Given the description of an element on the screen output the (x, y) to click on. 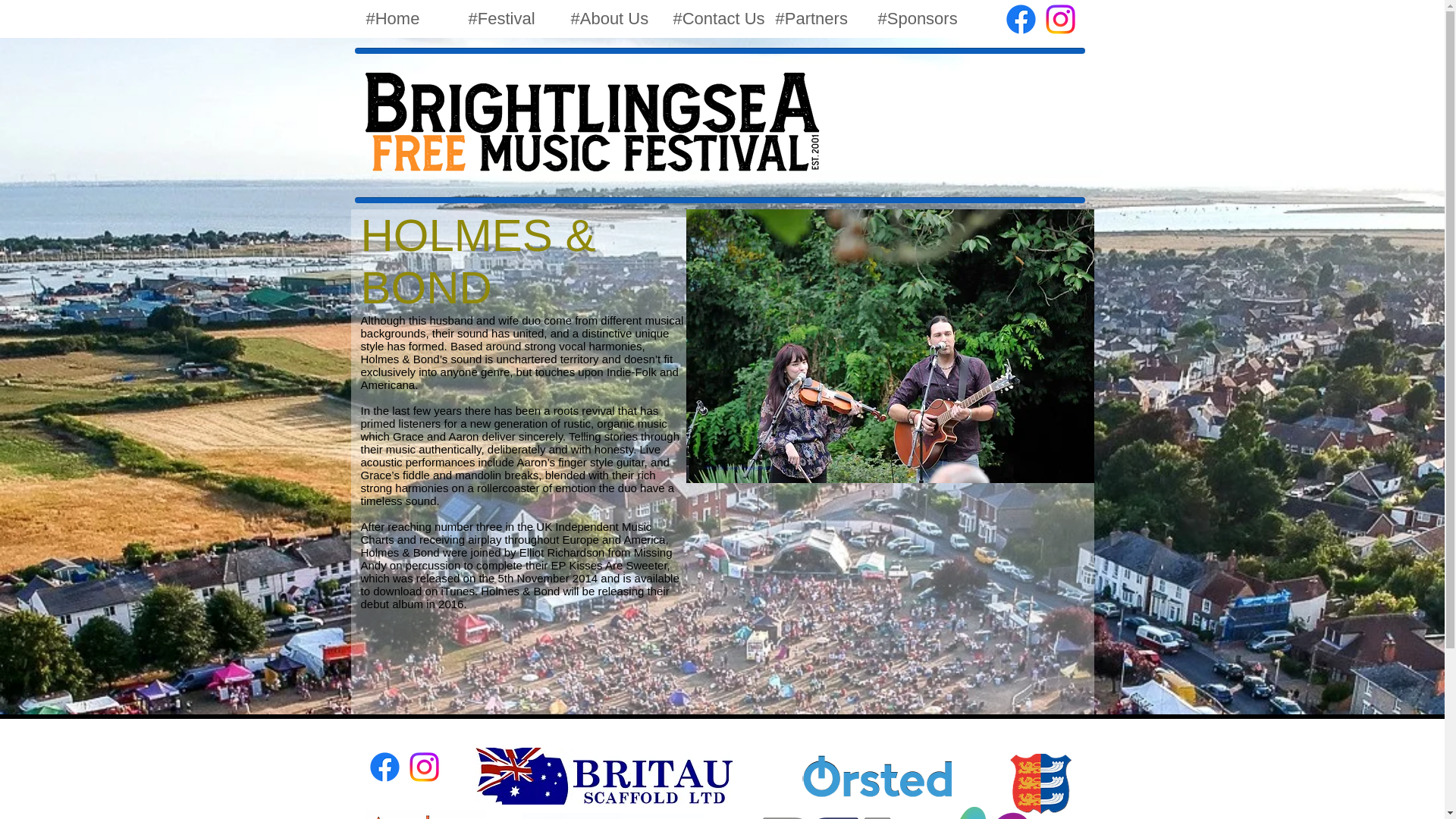
HOLMES.jpg (889, 346)
External YouTube (889, 592)
